Given the description of an element on the screen output the (x, y) to click on. 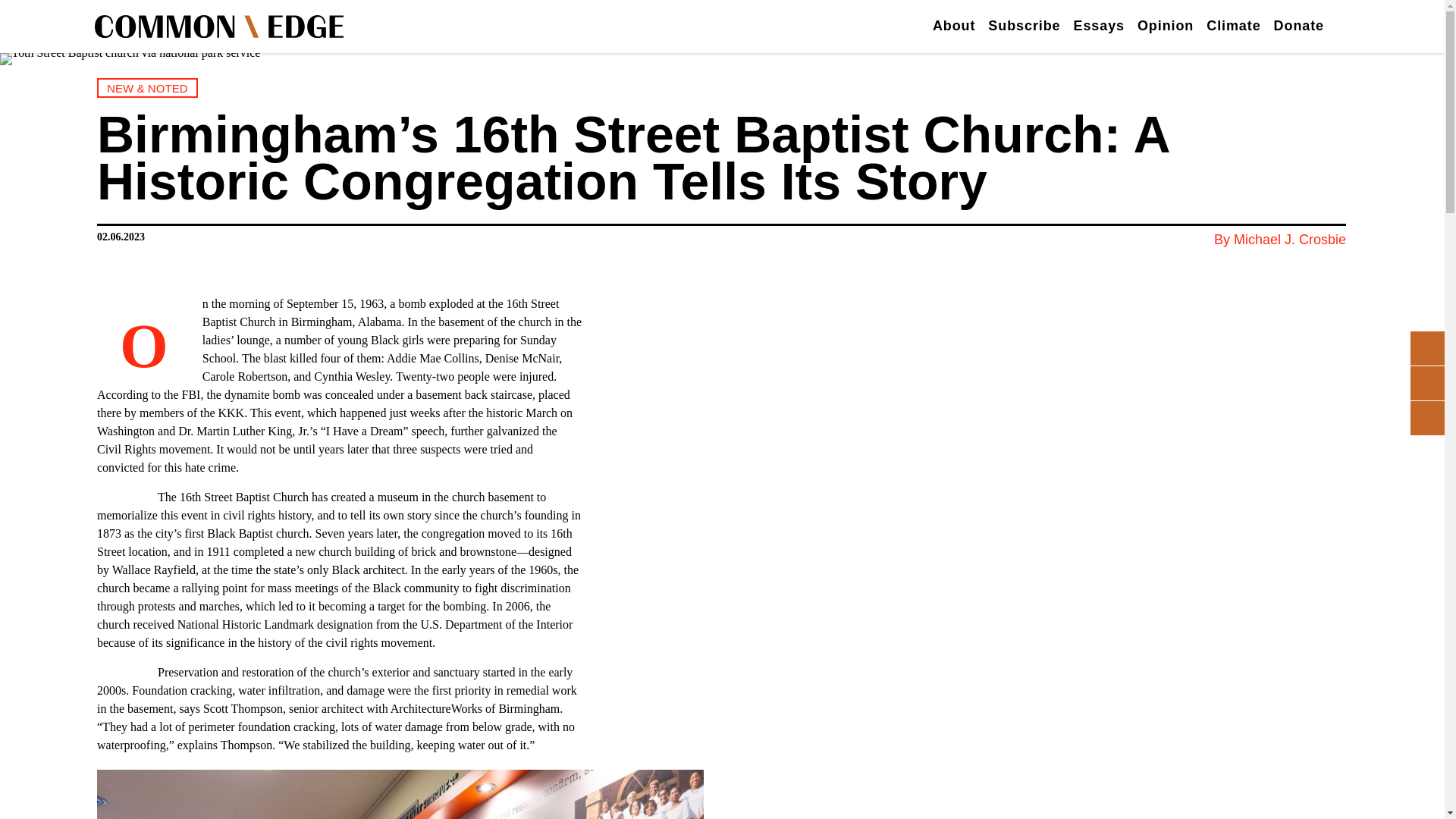
About (954, 27)
Climate (1233, 27)
Opinion (1165, 27)
Subscribe (1023, 27)
Donate (1298, 27)
Michael J. Crosbie (1289, 239)
Essays (1099, 27)
